Given the description of an element on the screen output the (x, y) to click on. 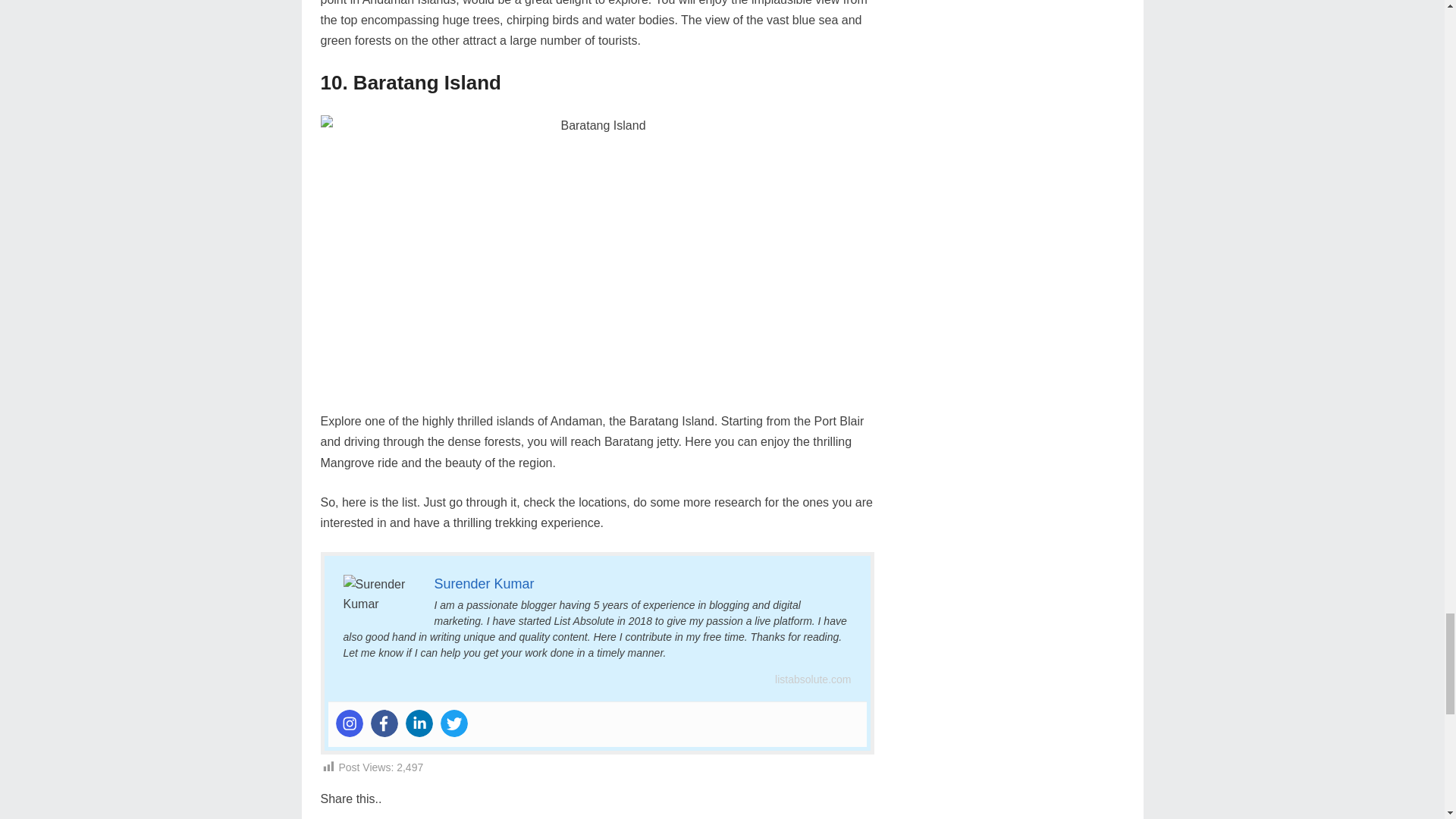
Instagram (348, 723)
Linkedin (418, 723)
Twitter (453, 723)
Facebook (383, 723)
